Given the description of an element on the screen output the (x, y) to click on. 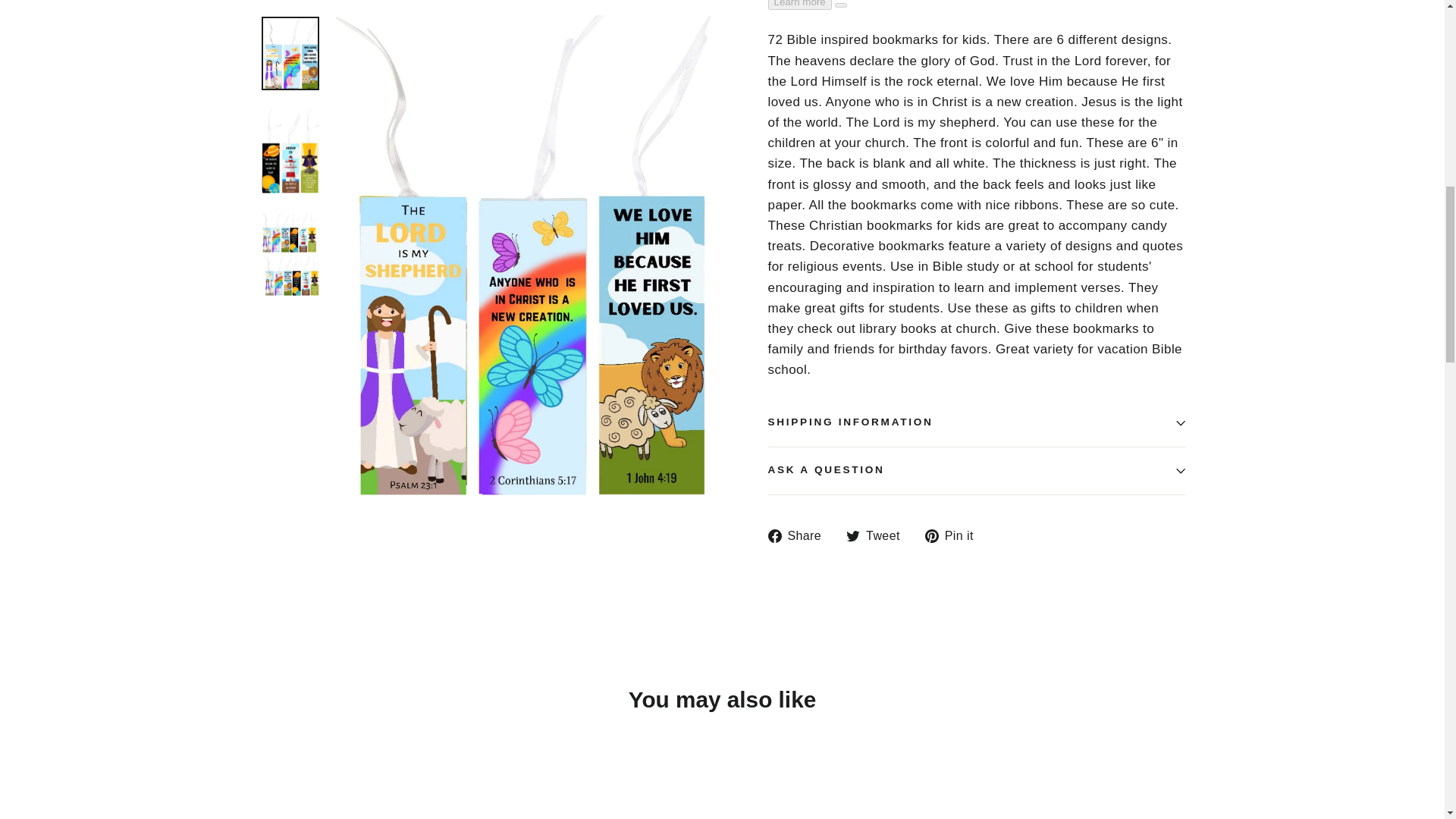
twitter (852, 535)
Pin on Pinterest (954, 536)
Share on Facebook (799, 536)
Tweet on Twitter (878, 536)
